Given the description of an element on the screen output the (x, y) to click on. 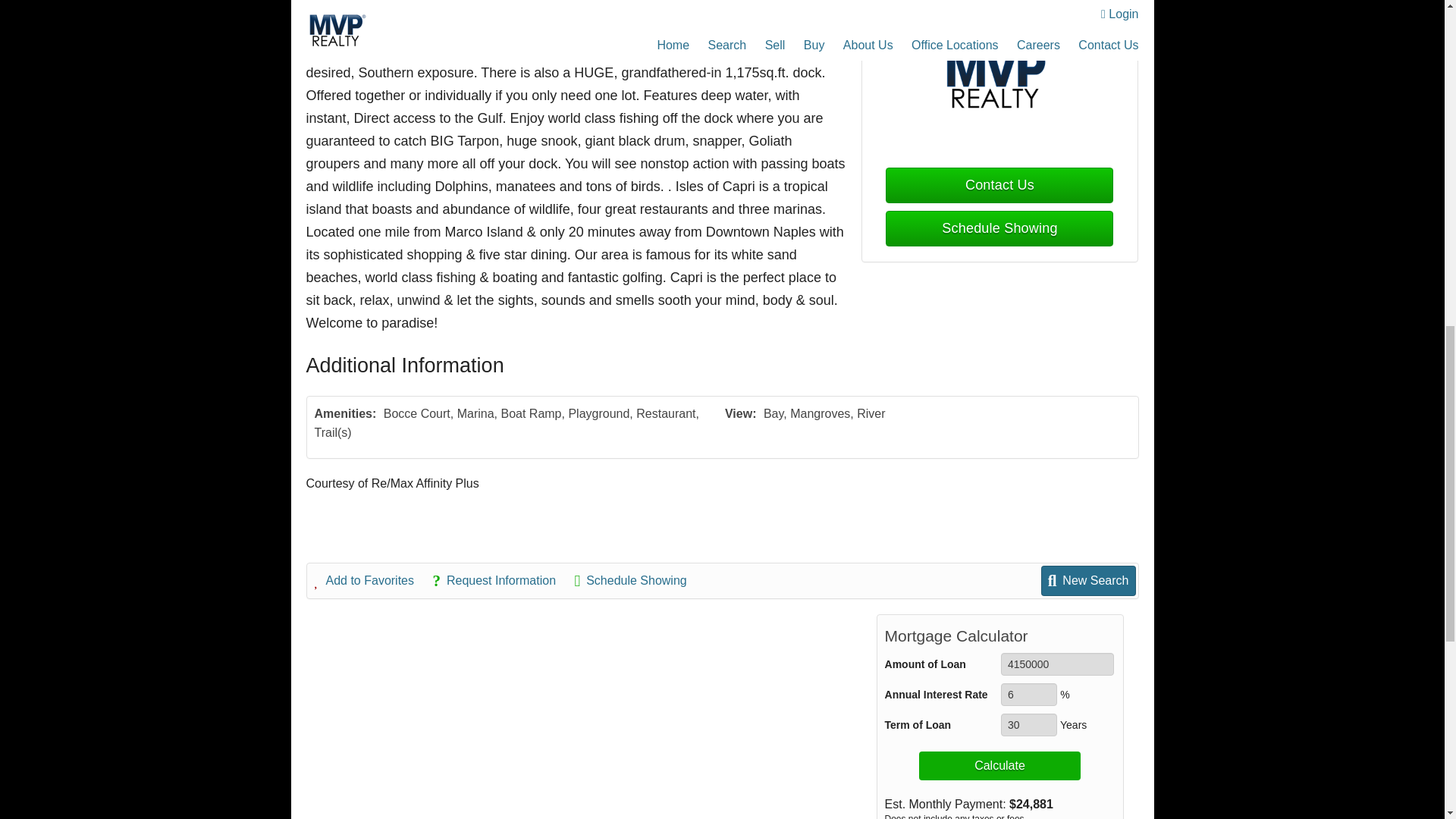
30 (1029, 724)
Schedule Showing (999, 228)
4150000 (1057, 663)
6 (1029, 694)
Contact Us (999, 185)
